Given the description of an element on the screen output the (x, y) to click on. 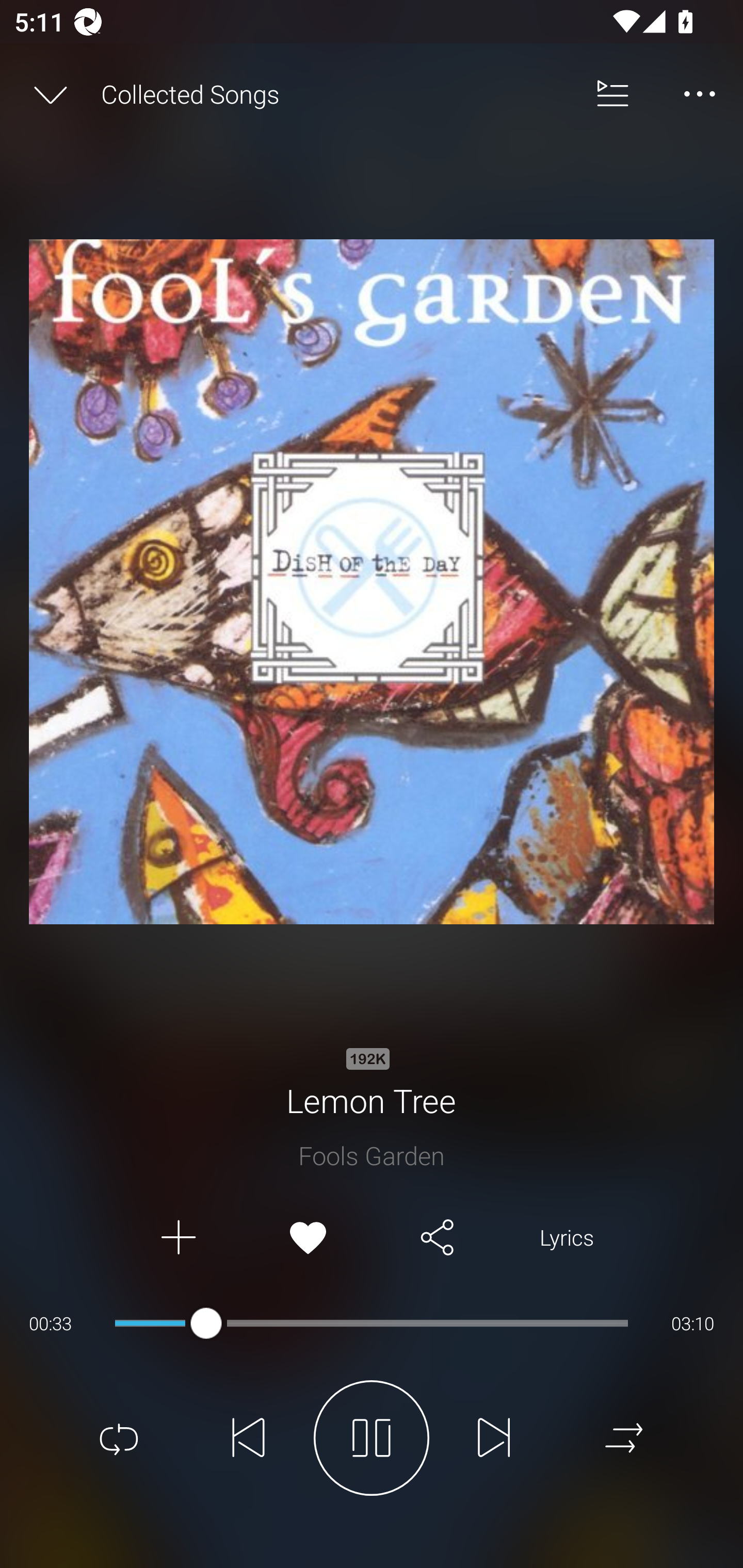
縮小播放介面 (50, 93)
現正播放清單 (612, 93)
Edit (699, 93)
Collected Songs (335, 93)
Fools Garden (371, 1155)
加入到新歌單 (177, 1237)
加入收藏, 已加入 (307, 1237)
Lyrics (566, 1237)
暫停播放 (371, 1437)
不重複播放 (118, 1438)
播放前一首 (248, 1438)
播放下一首 (494, 1438)
循序播放 (624, 1438)
